Given the description of an element on the screen output the (x, y) to click on. 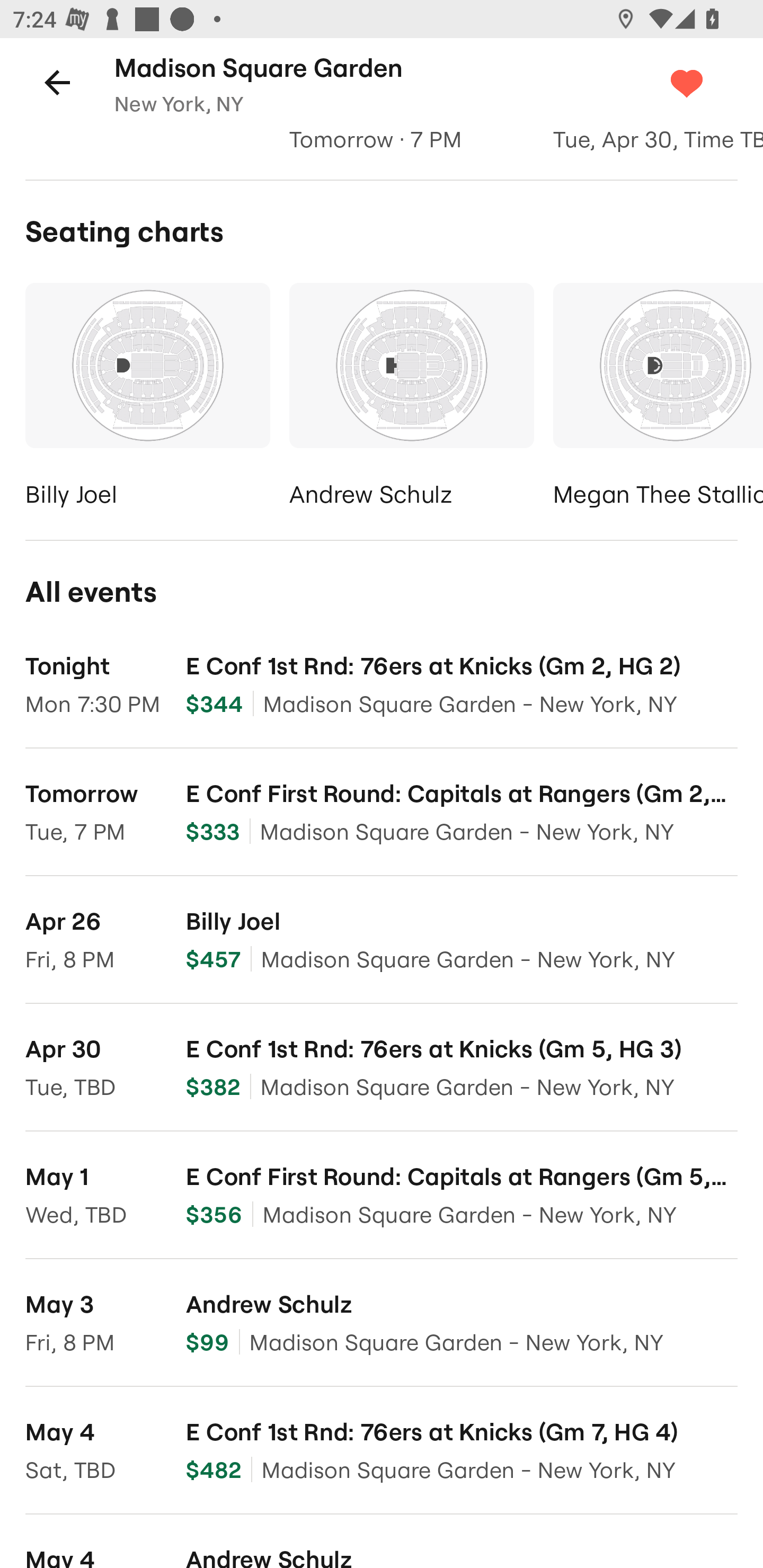
Back (57, 81)
Tracking (705, 81)
Tomorrow · 7 PM (411, 140)
Tue, Apr 30, Time TBD (658, 140)
Billy Joel (147, 398)
Andrew Schulz (411, 398)
Megan Thee Stallion with GloRilla (658, 398)
May 4 Andrew Schulz (381, 1541)
